Given the description of an element on the screen output the (x, y) to click on. 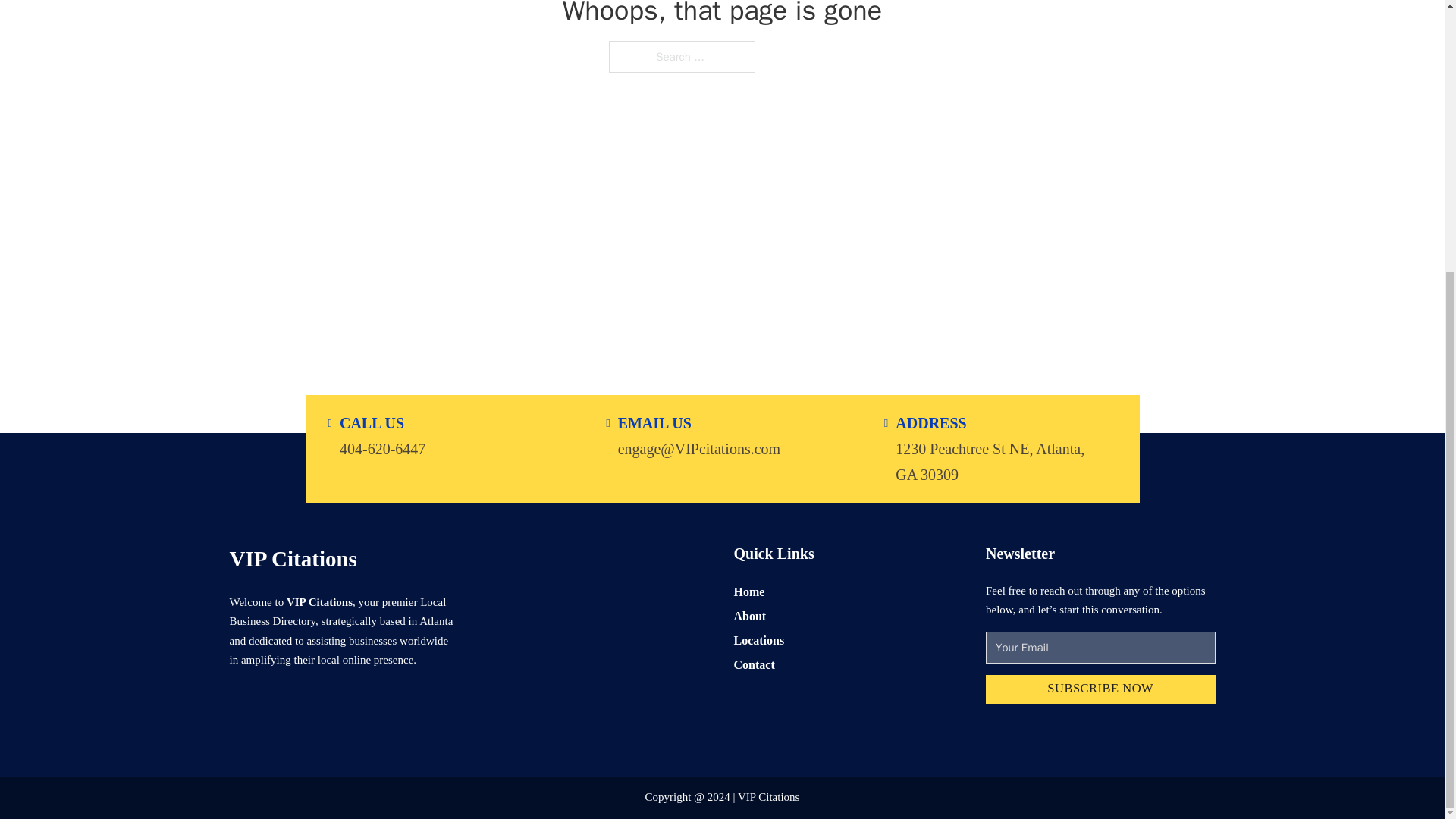
Locations (758, 639)
VIP Citations (292, 558)
404-620-6447 (382, 447)
Home (749, 590)
Contact (753, 664)
About (750, 616)
SUBSCRIBE NOW (1100, 689)
